Given the description of an element on the screen output the (x, y) to click on. 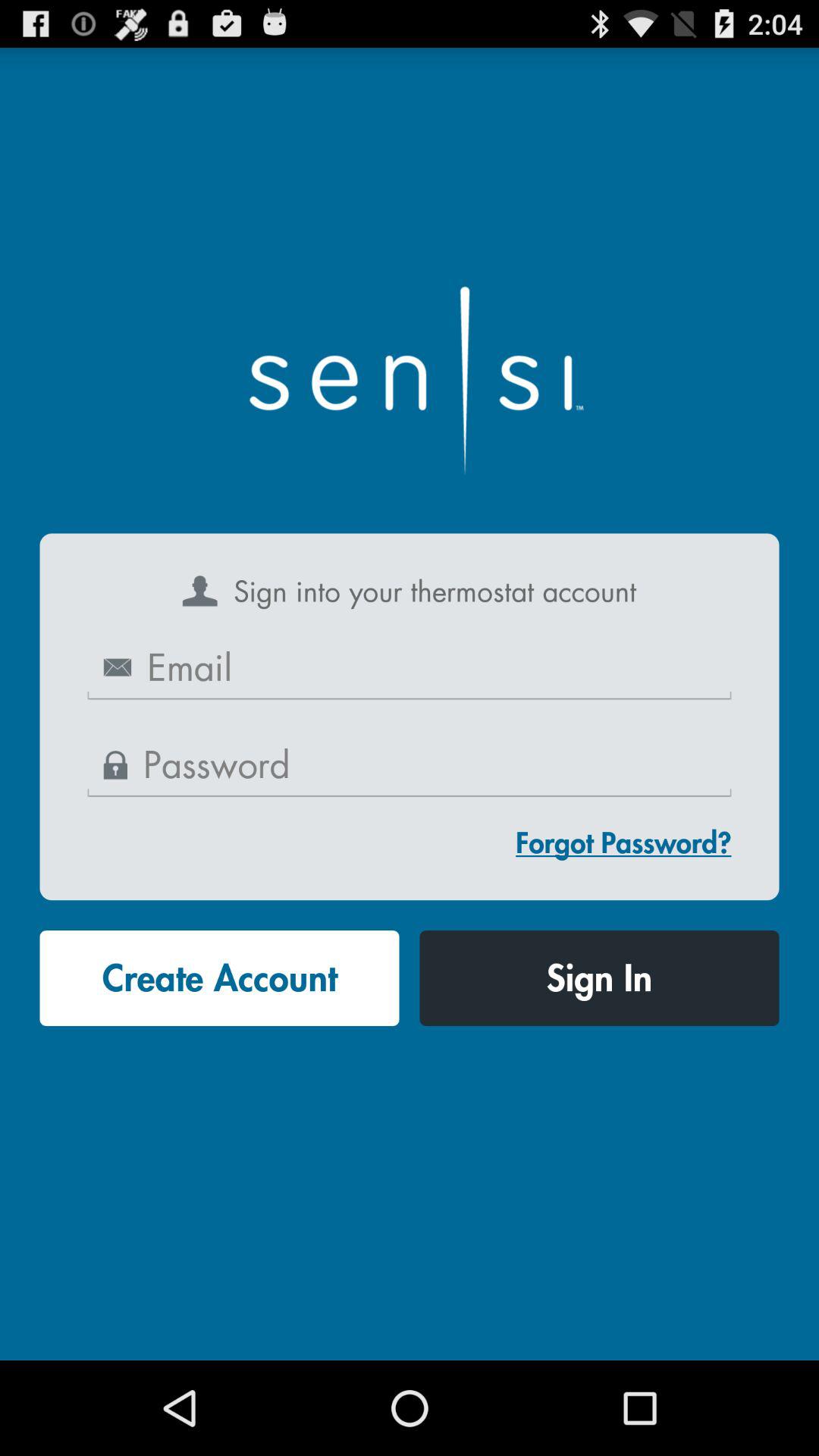
choose the  forgot password?  icon (623, 842)
